Given the description of an element on the screen output the (x, y) to click on. 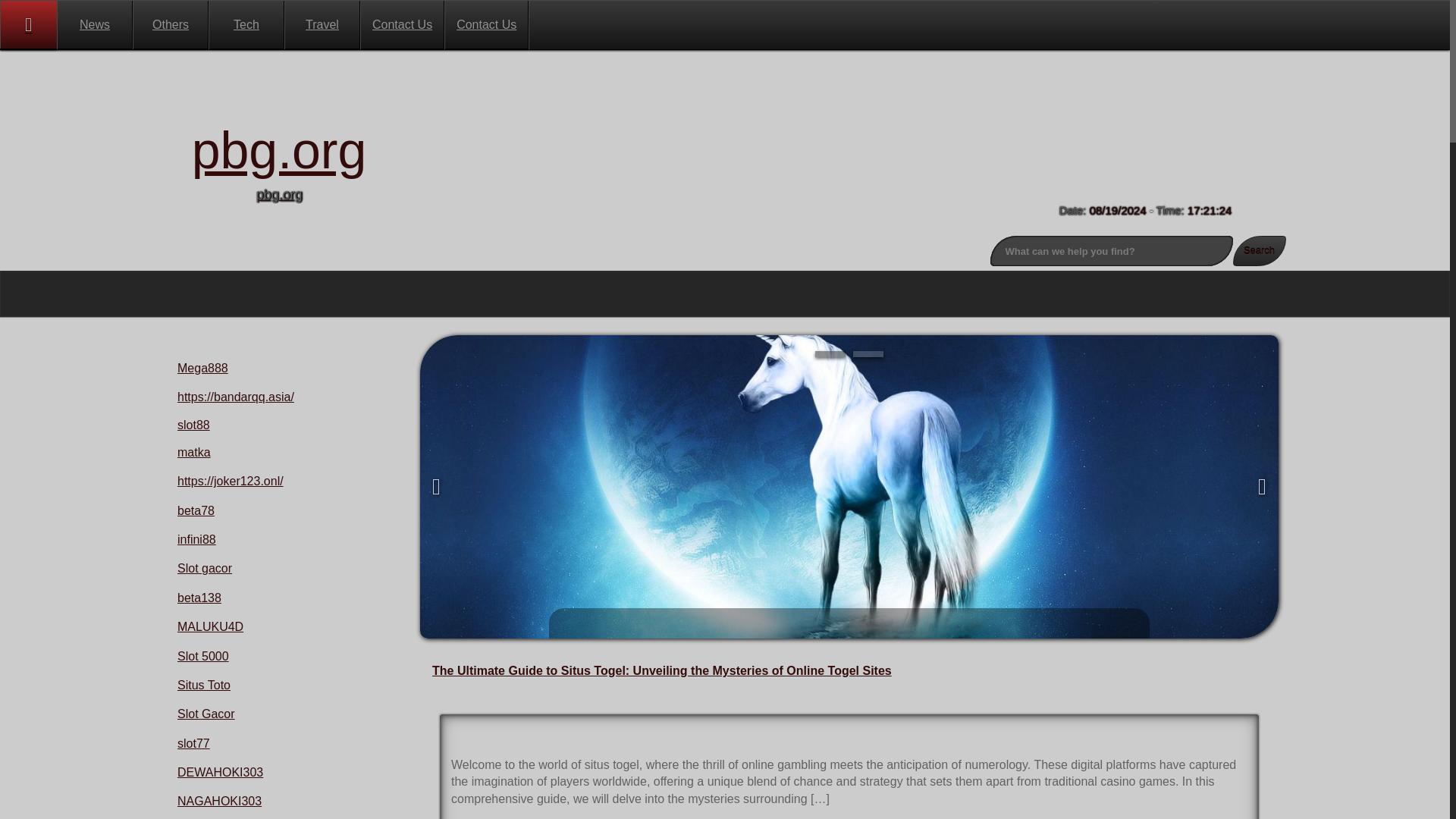
slot88 (193, 424)
Situs Toto (203, 684)
DEWAHOKI303 (220, 771)
beta138 (199, 597)
slot77 (193, 743)
matka (194, 451)
beta78 (195, 510)
Slot 5000 (202, 656)
Slot gacor (204, 567)
NAGAHOKI303 (219, 800)
